Given the description of an element on the screen output the (x, y) to click on. 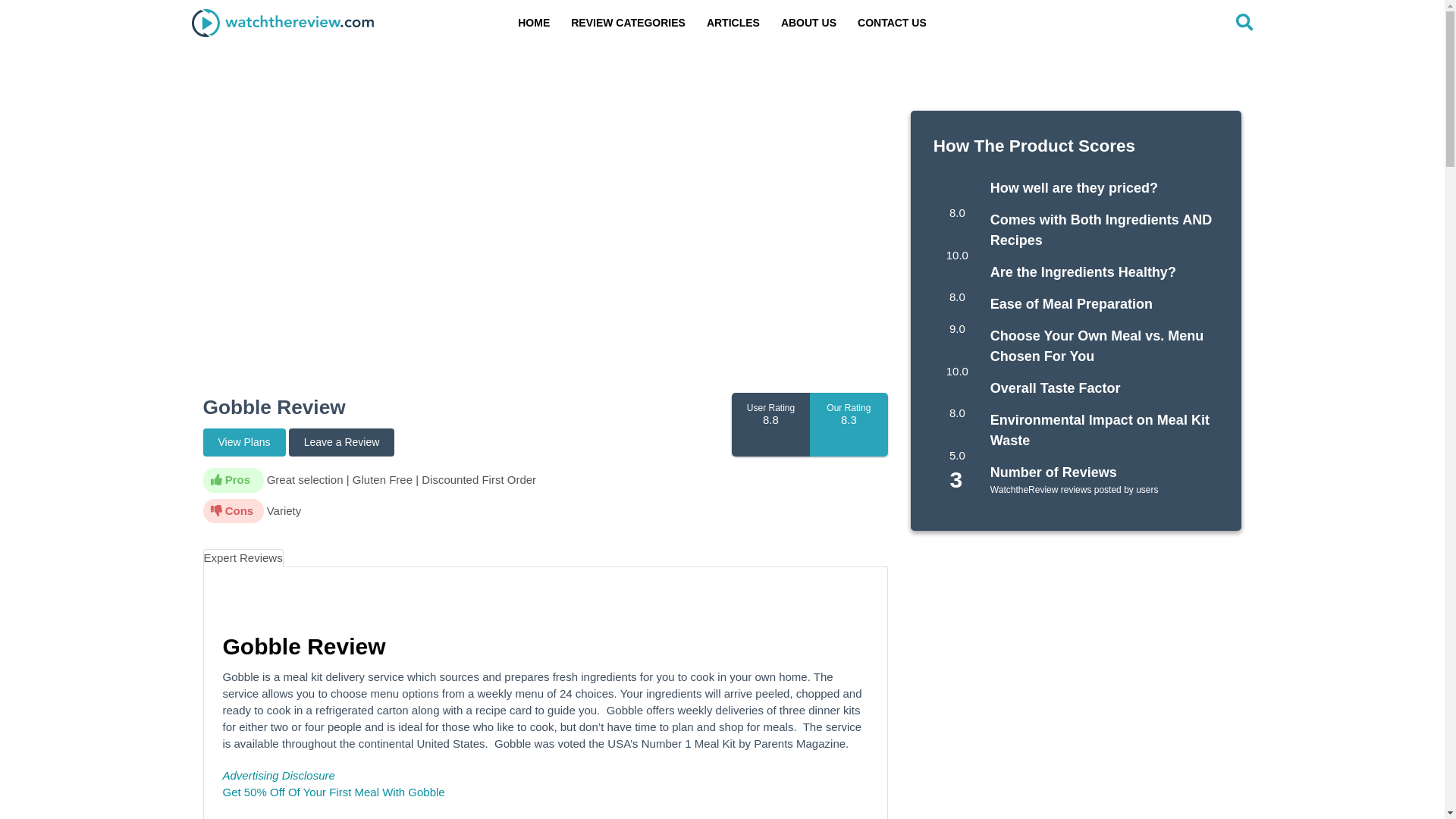
CONTACT US (892, 23)
Expert Reviews (243, 557)
Leave a Review (341, 442)
ARTICLES (732, 23)
Advertising Disclosure (278, 775)
View Plans (244, 442)
HOME (533, 23)
ABOUT US (808, 23)
REVIEW CATEGORIES (627, 23)
